Given the description of an element on the screen output the (x, y) to click on. 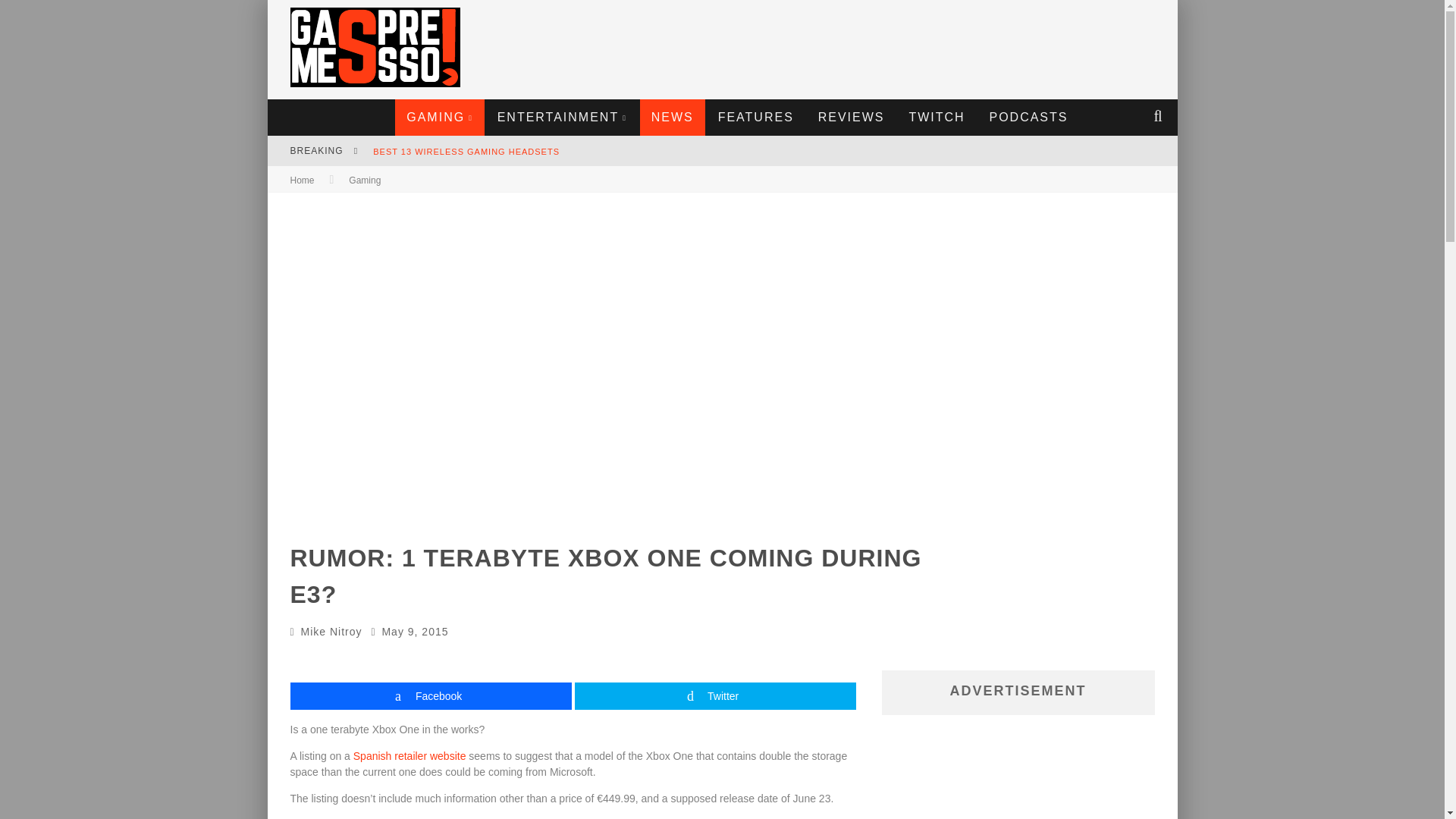
Share on Twitter (715, 696)
Share on Facebook (429, 696)
GAMING (439, 117)
View all posts in Gaming (364, 180)
Best 13 Wireless Gaming Headsets (465, 151)
ENTERTAINMENT (562, 117)
